Given the description of an element on the screen output the (x, y) to click on. 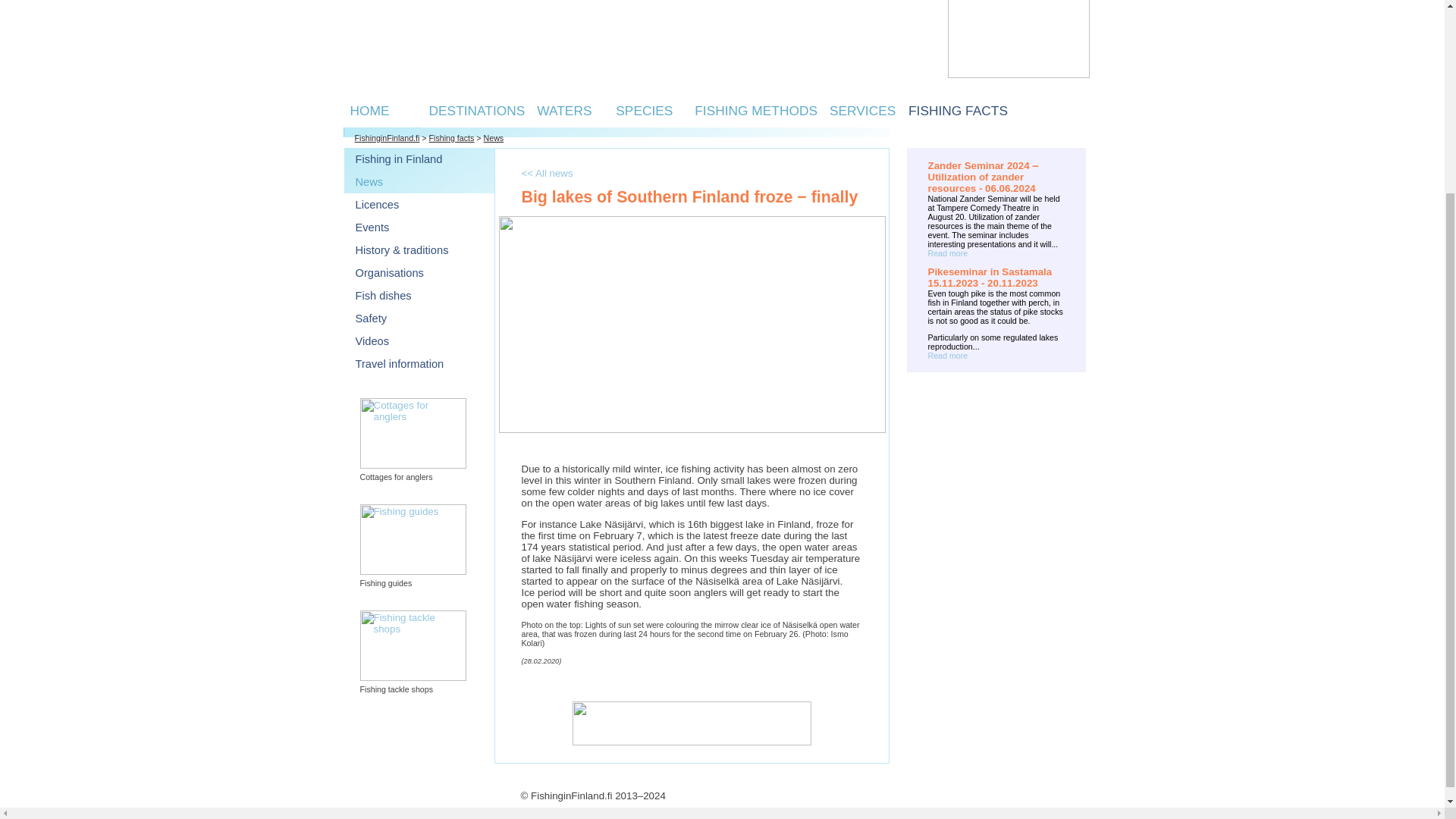
Fishing in Finland (398, 159)
Fishing guides (412, 539)
Fishing facts (451, 137)
News (368, 182)
FISHING METHODS (755, 109)
Events (371, 227)
FISHING FACTS (957, 109)
Videos (371, 340)
HOME (370, 109)
DESTINATIONS (477, 109)
Travel information (399, 363)
FishinginFinland.fi (387, 137)
News (493, 137)
